Given the description of an element on the screen output the (x, y) to click on. 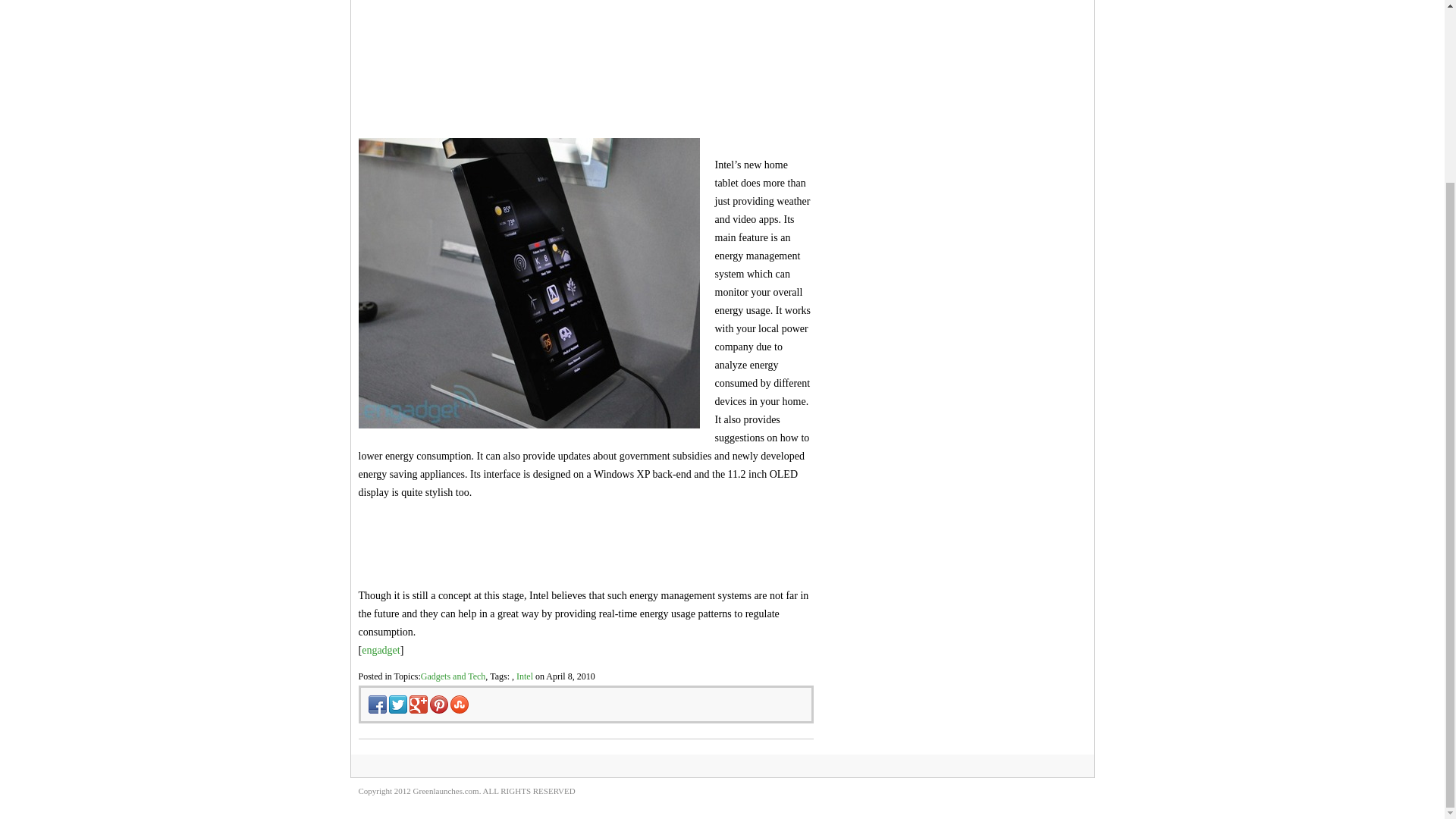
Intel (524, 675)
engadget (380, 650)
Advertisement (584, 62)
Facebook (371, 767)
Gadgets and Tech (453, 675)
Advertisement (535, 532)
